Given the description of an element on the screen output the (x, y) to click on. 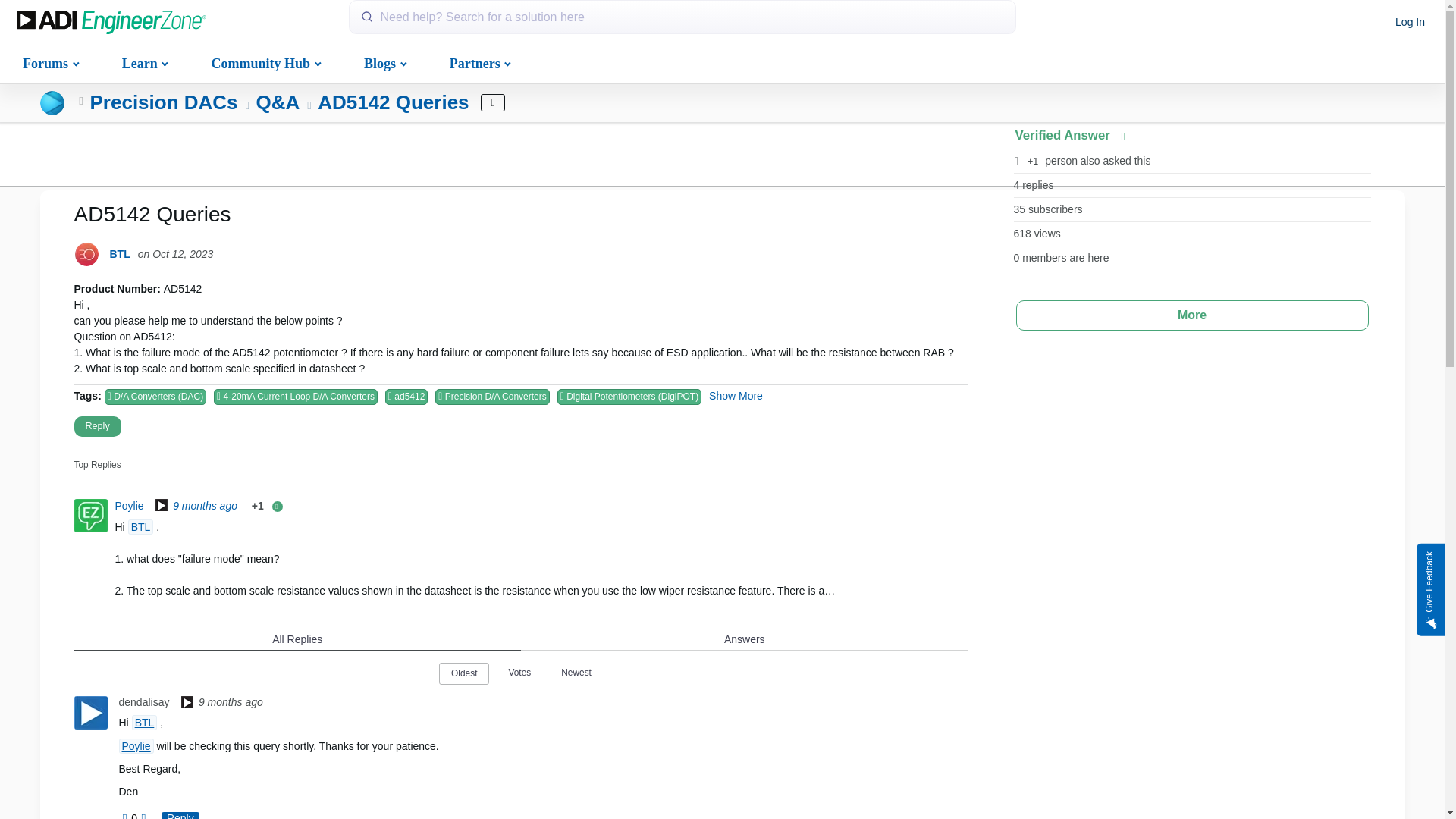
Join or sign in (1409, 22)
Home (111, 22)
Forums (49, 62)
Log In (1409, 22)
Analog Employees (161, 506)
Analog Employees (186, 703)
Up to Data Converters (81, 101)
